Given the description of an element on the screen output the (x, y) to click on. 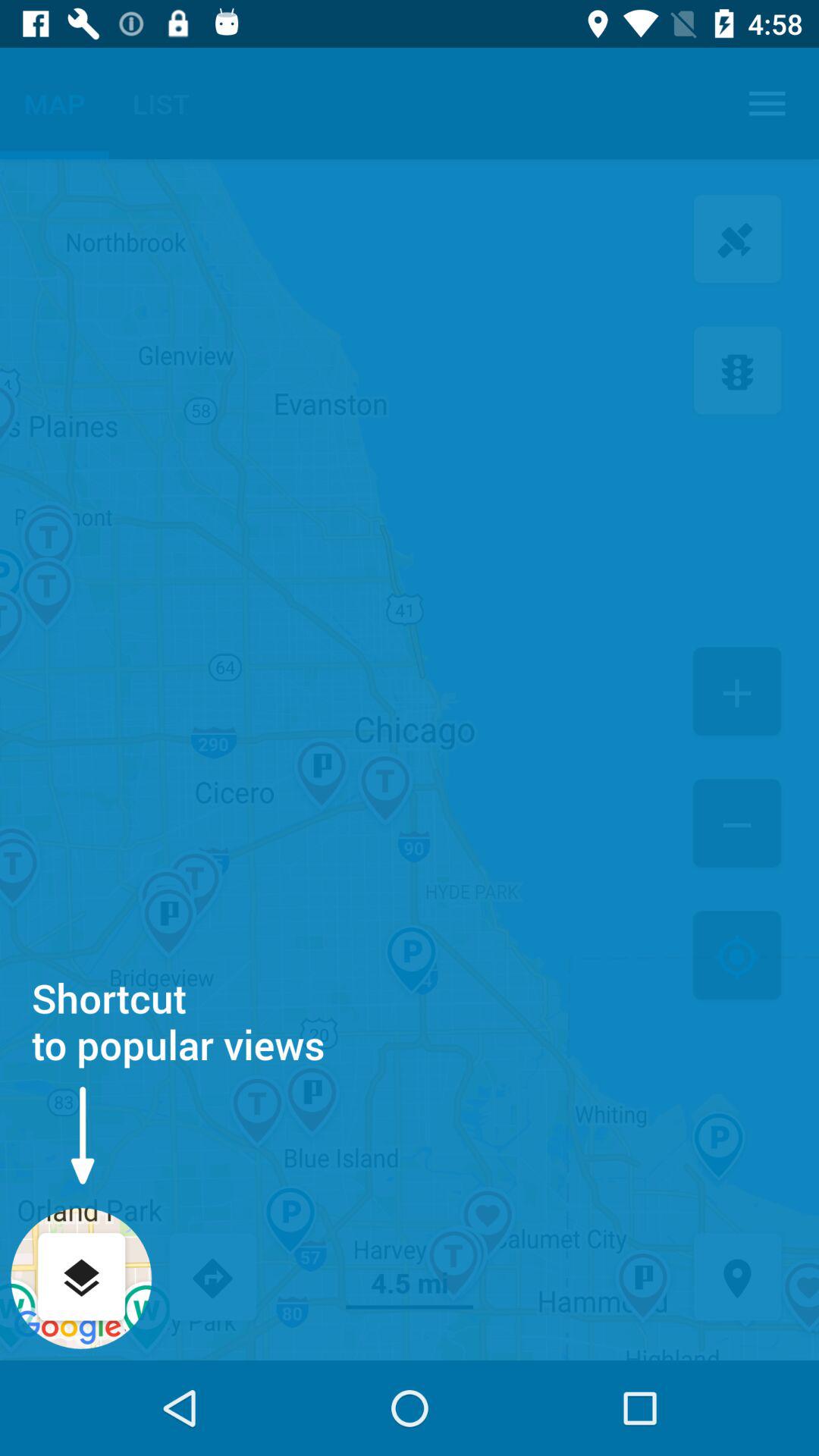
location (737, 1278)
